Given the description of an element on the screen output the (x, y) to click on. 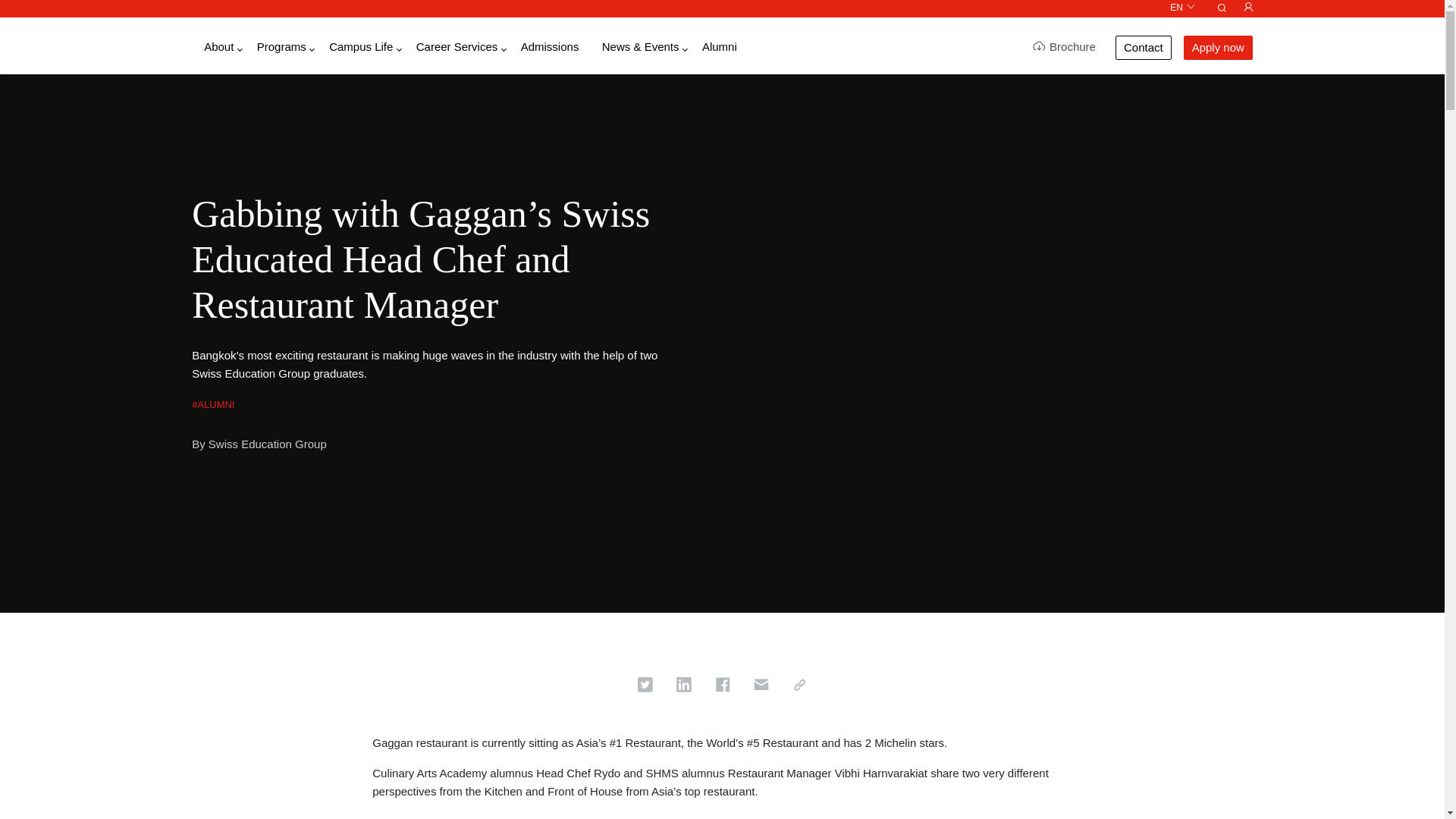
Apply now (1217, 47)
EN (1182, 7)
Contact (1143, 47)
Admissions (550, 46)
Brochure (1064, 47)
Alumni (718, 46)
